Given the description of an element on the screen output the (x, y) to click on. 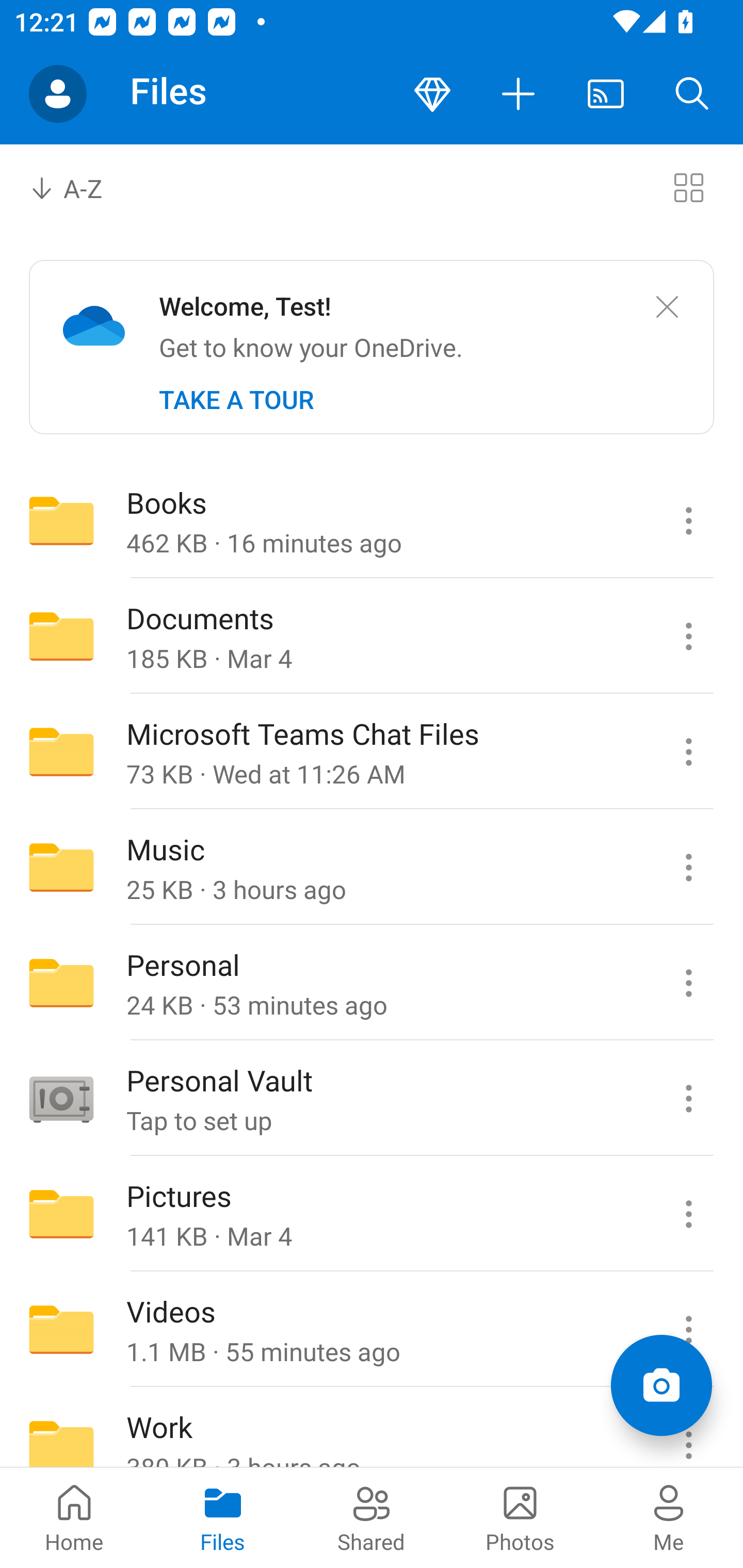
Account switcher (57, 93)
Cast. Disconnected (605, 93)
Premium button (432, 93)
More actions button (518, 93)
Search button (692, 93)
A-Z Sort by combo box, sort by name, A to Z (80, 187)
Switch to tiles view (688, 187)
Close (667, 307)
TAKE A TOUR (236, 399)
Books commands (688, 520)
Folder Documents 185 KB · Mar 4 Documents commands (371, 636)
Documents commands (688, 636)
Microsoft Teams Chat Files commands (688, 751)
Folder Music 25 KB · 3 hours ago Music commands (371, 867)
Music commands (688, 867)
Personal commands (688, 983)
Personal Vault commands (688, 1099)
Folder Pictures 141 KB · Mar 4 Pictures commands (371, 1214)
Pictures commands (688, 1214)
Videos commands (688, 1329)
Add items Scan (660, 1385)
Folder Work 380 KB · 3 hours ago Work commands (371, 1427)
Work commands (688, 1427)
Home pivot Home (74, 1517)
Shared pivot Shared (371, 1517)
Photos pivot Photos (519, 1517)
Me pivot Me (668, 1517)
